Given the description of an element on the screen output the (x, y) to click on. 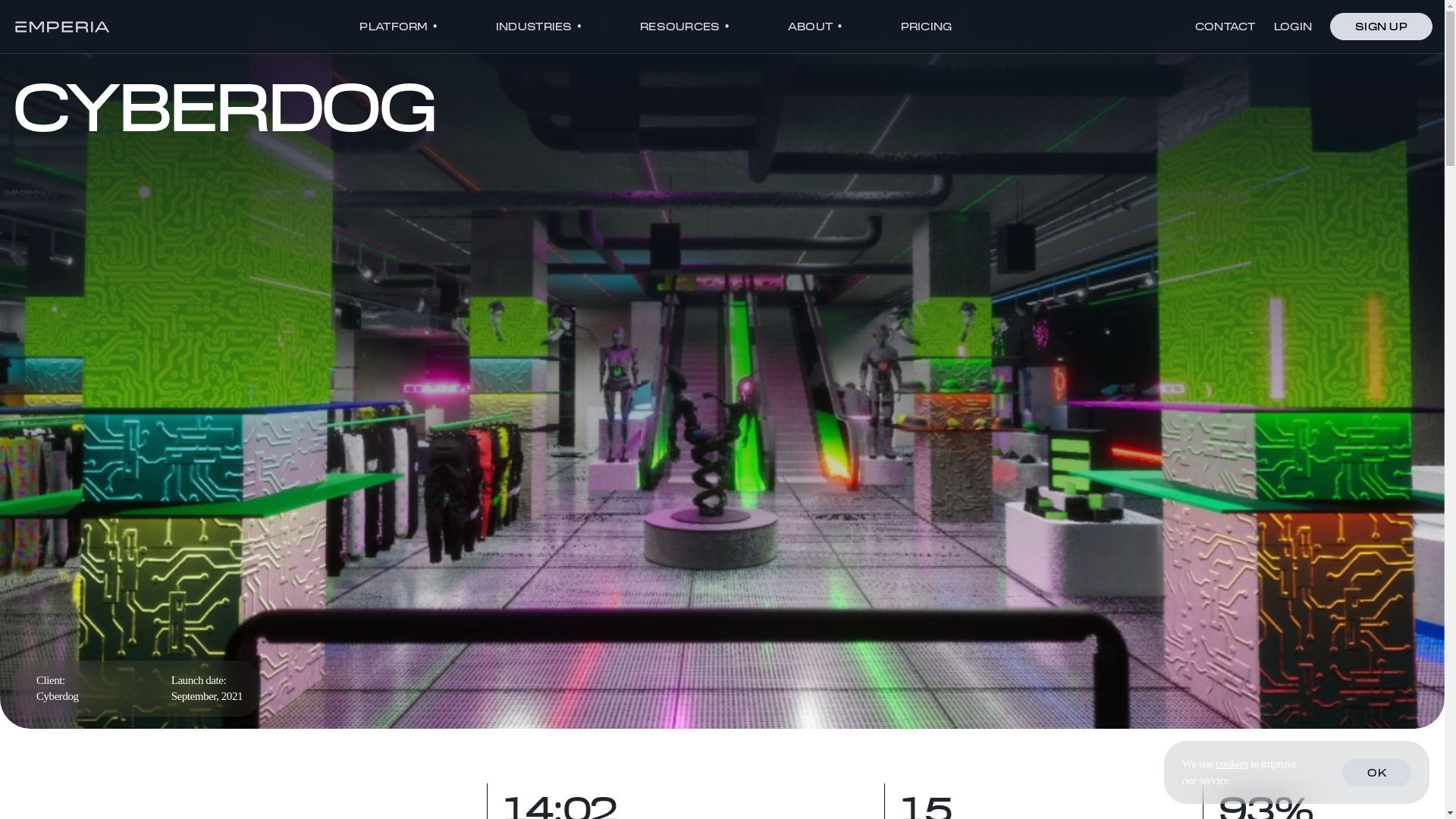
SIGN UP (1381, 26)
RESOURCES (684, 25)
LOGIN (1292, 34)
ABOUT (814, 25)
Login to the Dashboard (1292, 34)
EMPERIA (63, 26)
PRICING (925, 25)
Contact (1225, 34)
CONTACT (1225, 34)
PLATFORM (398, 25)
